Given the description of an element on the screen output the (x, y) to click on. 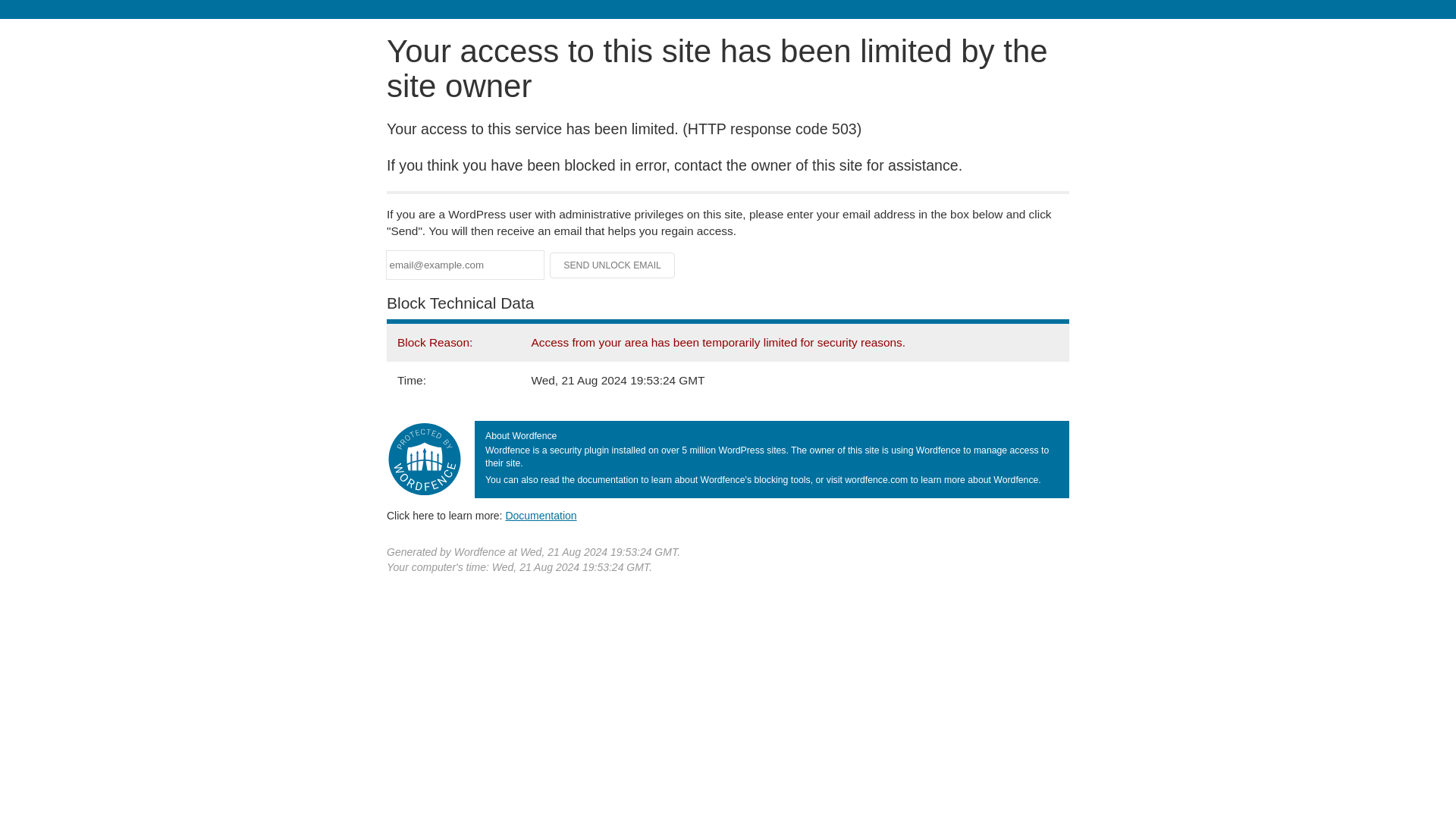
Documentation (540, 515)
Send Unlock Email (612, 265)
Send Unlock Email (612, 265)
